Given the description of an element on the screen output the (x, y) to click on. 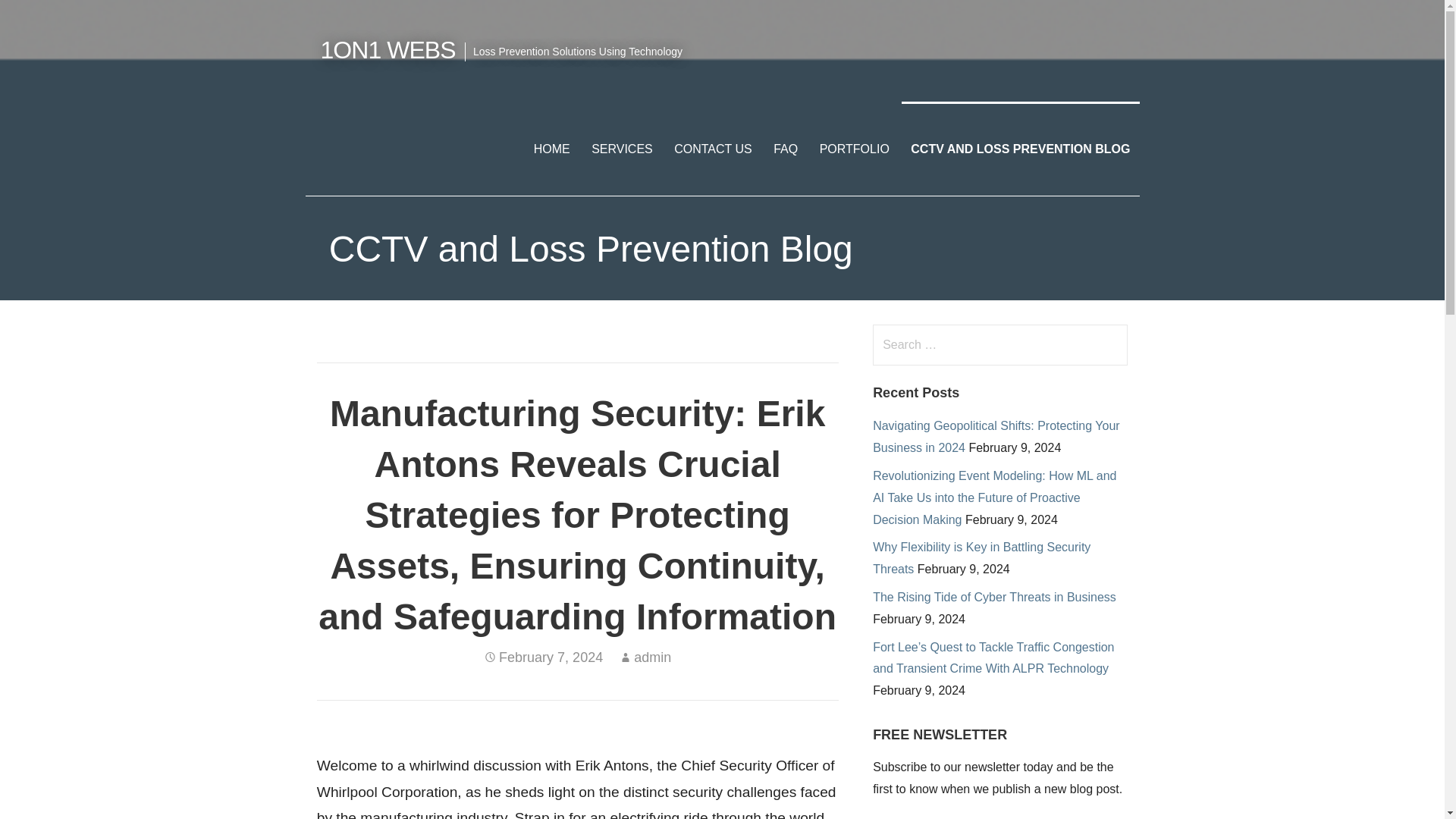
CCTV AND LOSS PREVENTION BLOG (1019, 148)
Posts by admin (652, 657)
The Rising Tide of Cyber Threats in Business (994, 596)
Search (42, 18)
admin (652, 657)
PORTFOLIO (854, 148)
CONTACT US (713, 148)
Why Flexibility is Key in Battling Security Threats (981, 557)
